Given the description of an element on the screen output the (x, y) to click on. 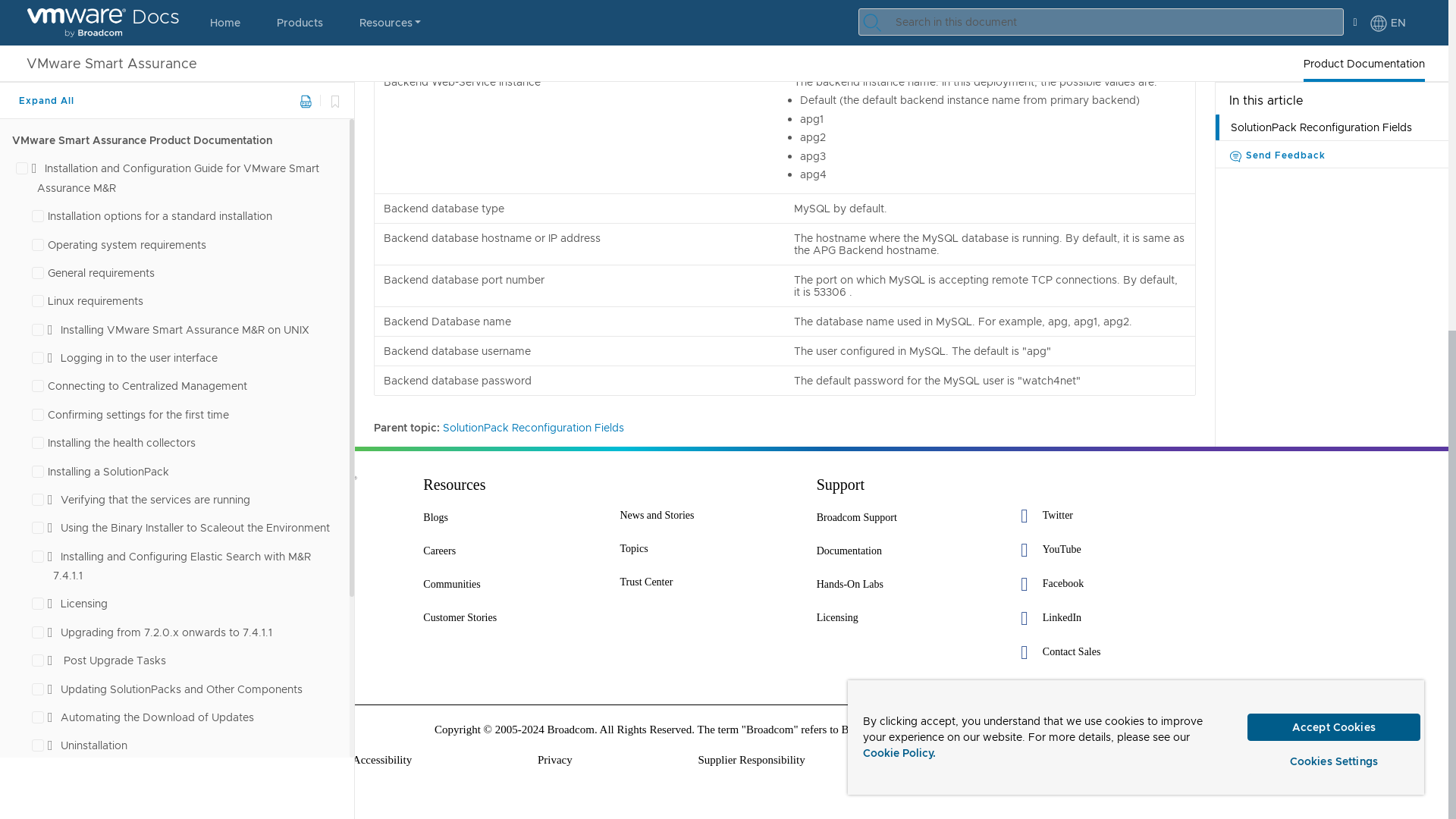
VMware (303, 490)
Privacy (554, 760)
Accessibility (382, 760)
Supplier Responsibility (751, 760)
Terms Of Use (962, 760)
